Given the description of an element on the screen output the (x, y) to click on. 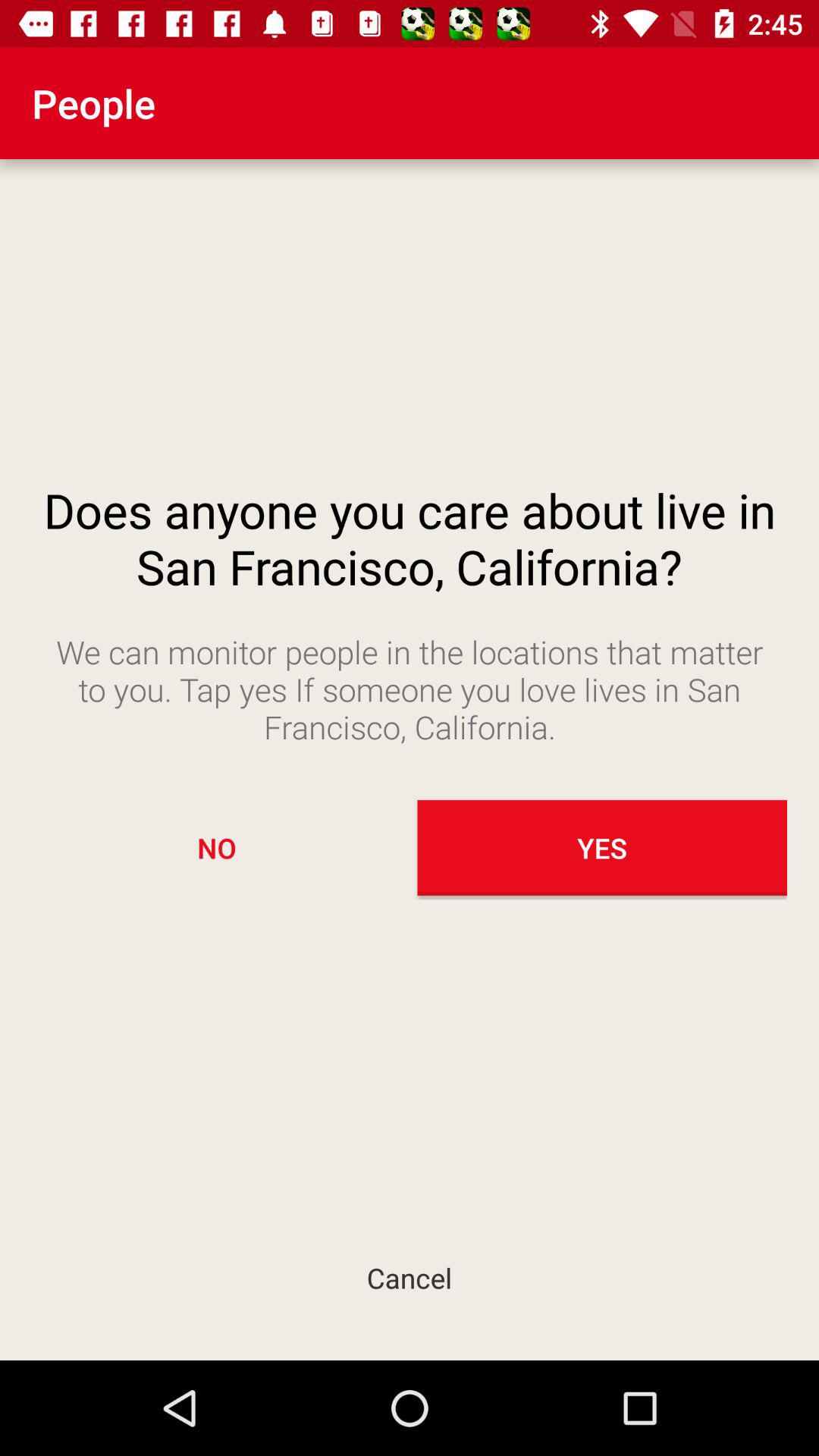
choose the icon to the left of yes (216, 847)
